Given the description of an element on the screen output the (x, y) to click on. 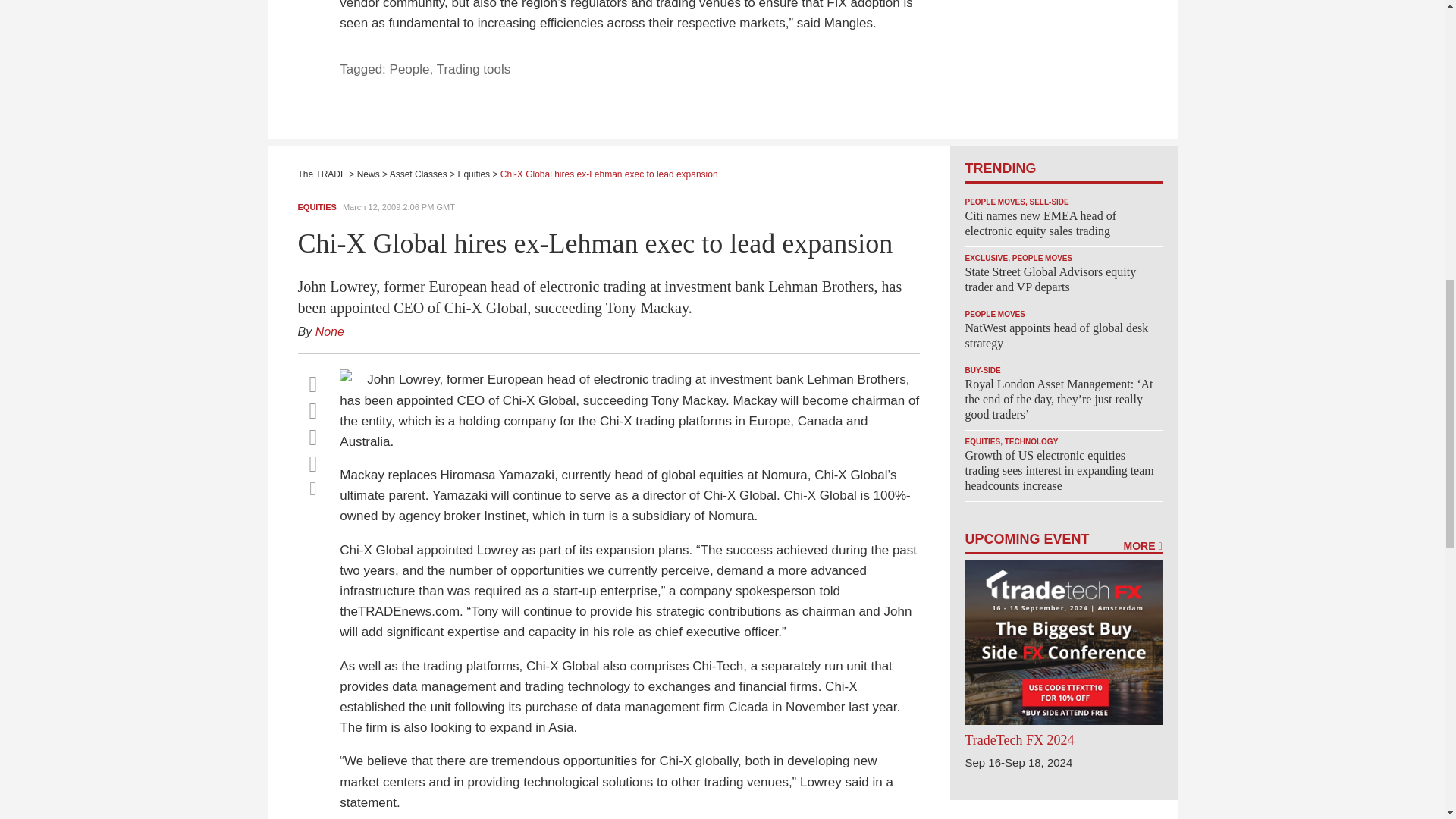
Go to The TRADE. (321, 173)
Go to the News Category archives. (368, 173)
ShareREAL (349, 377)
Go to the Equities Category archives. (473, 173)
Go to the Asset Classes Category archives. (418, 173)
